Given the description of an element on the screen output the (x, y) to click on. 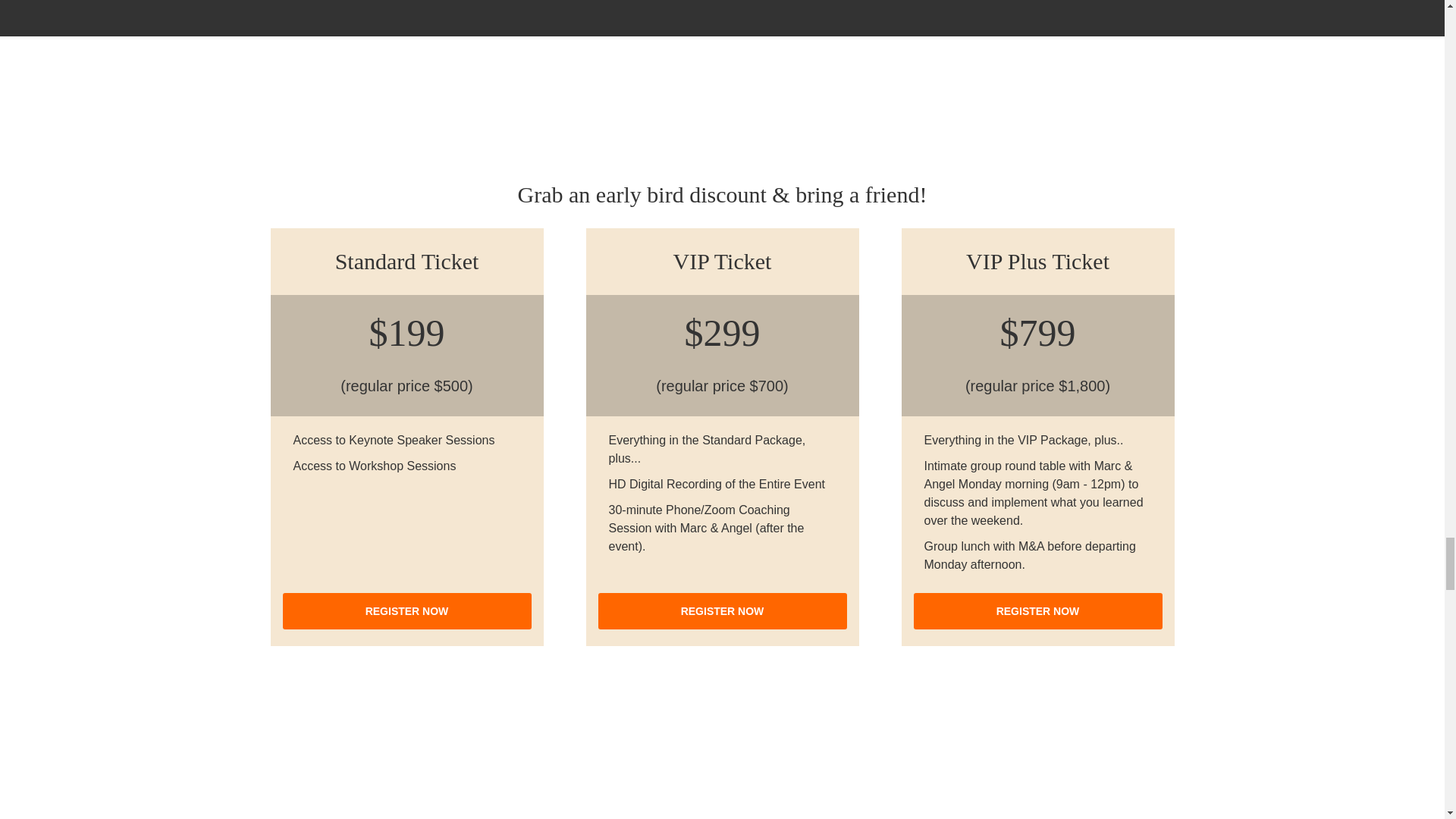
REGISTER NOW (406, 610)
REGISTER NOW (720, 610)
REGISTER NOW (1036, 610)
